Given the description of an element on the screen output the (x, y) to click on. 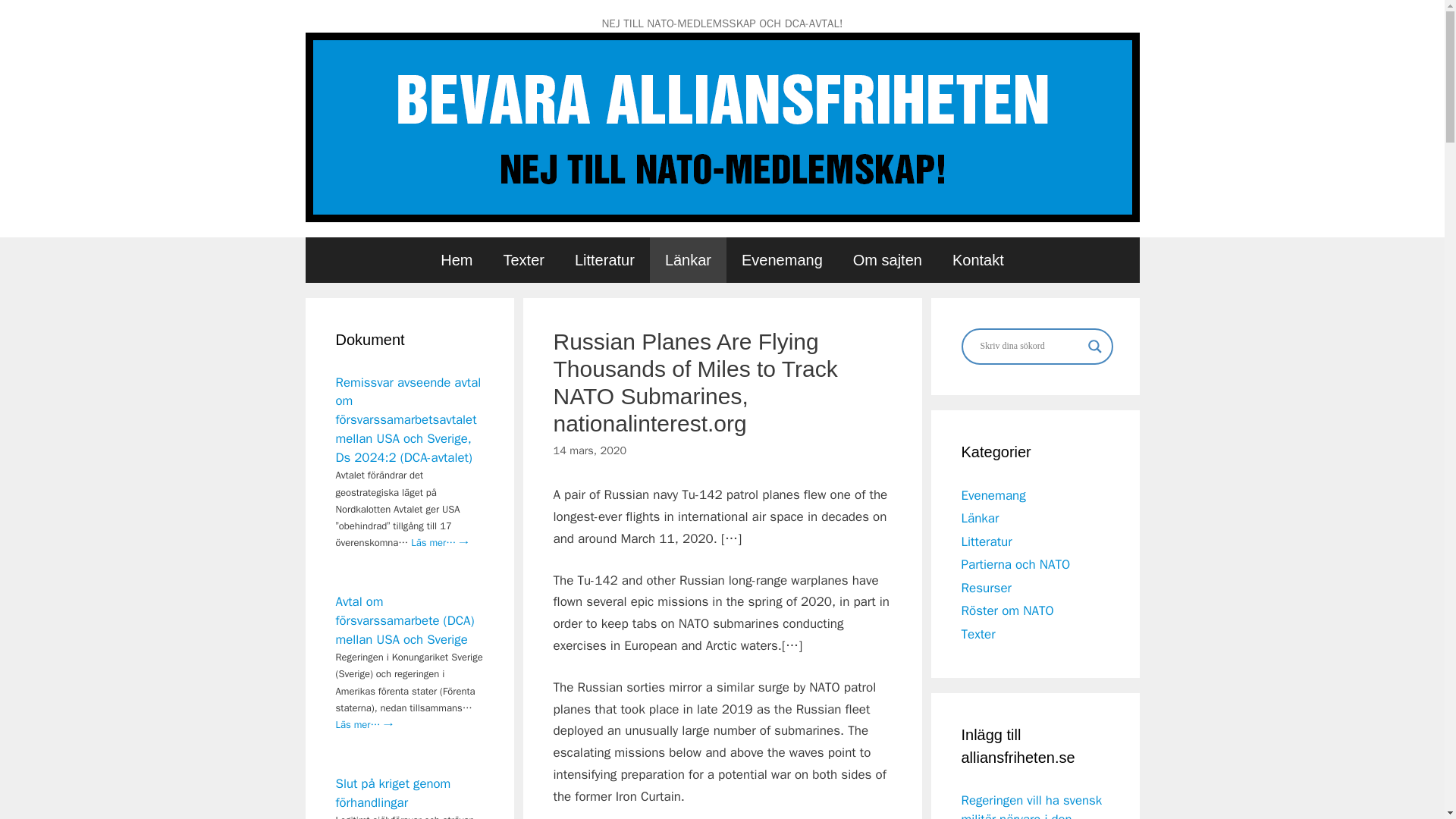
Litteratur (604, 258)
Evenemang (993, 494)
Texter (523, 258)
Om sajten (887, 258)
Litteratur (985, 541)
Hem (456, 258)
Evenemang (782, 258)
BEVARA ALLIANSFRIHETEN (721, 125)
Kontakt (978, 258)
